Given the description of an element on the screen output the (x, y) to click on. 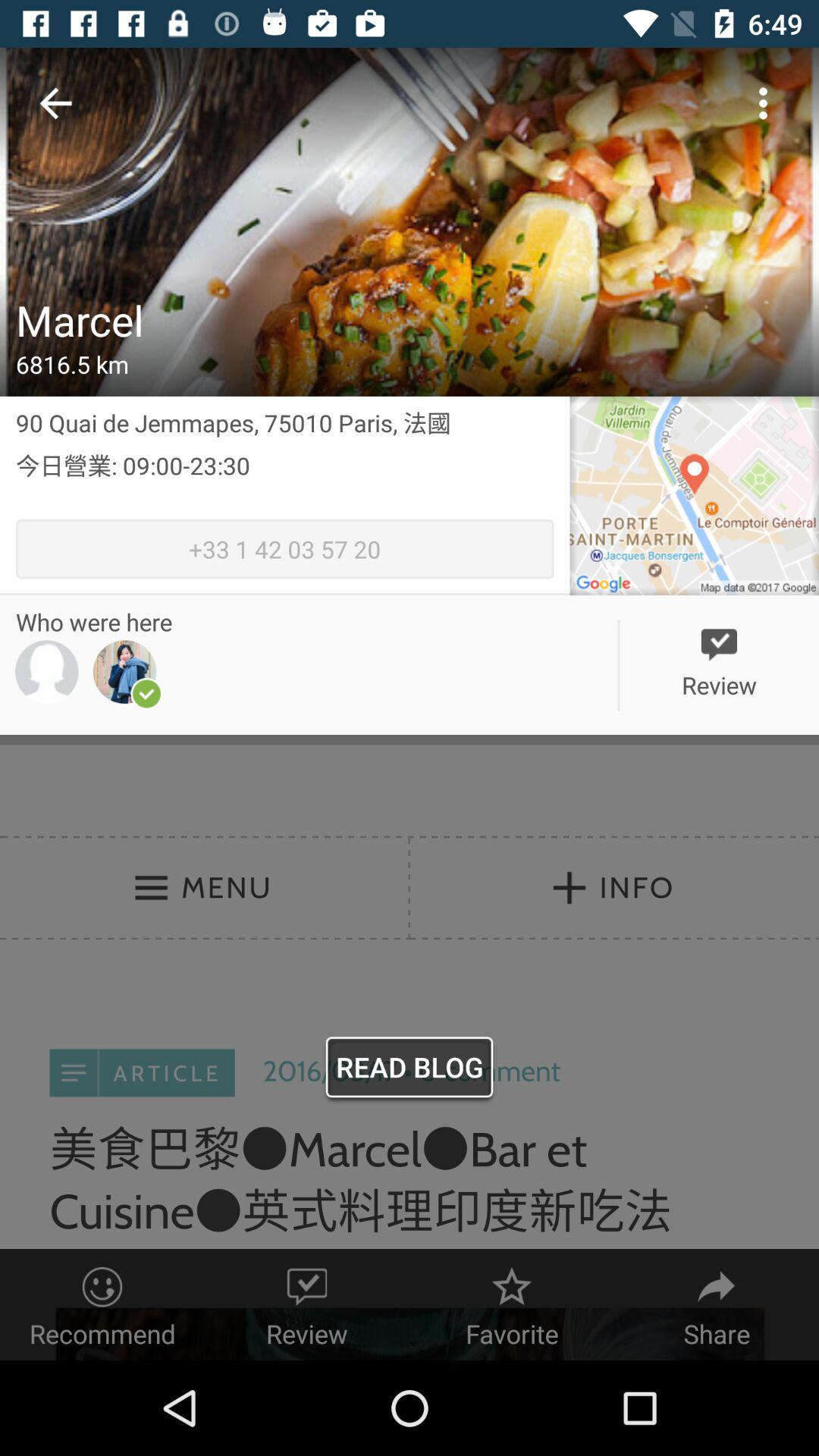
scroll to read blog icon (409, 1071)
